Given the description of an element on the screen output the (x, y) to click on. 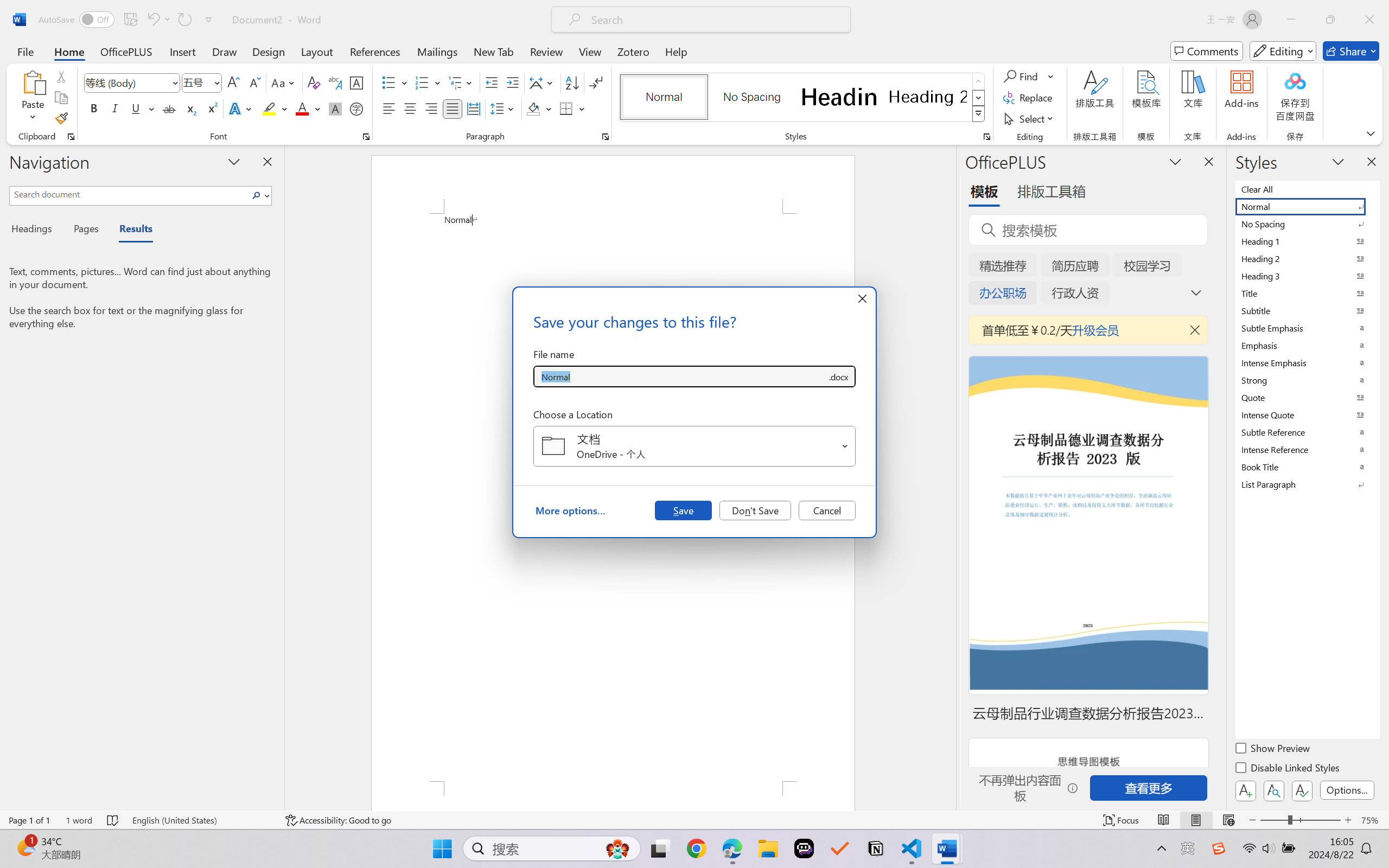
Subtitle (1306, 310)
Repeat Doc Close (184, 19)
Clear All (1306, 188)
Justify (452, 108)
Design (268, 51)
Layout (316, 51)
Show/Hide Editing Marks (595, 82)
Book Title (1306, 466)
Enclose Characters... (356, 108)
Close (1369, 19)
No Spacing (1306, 223)
Decrease Indent (491, 82)
